Given the description of an element on the screen output the (x, y) to click on. 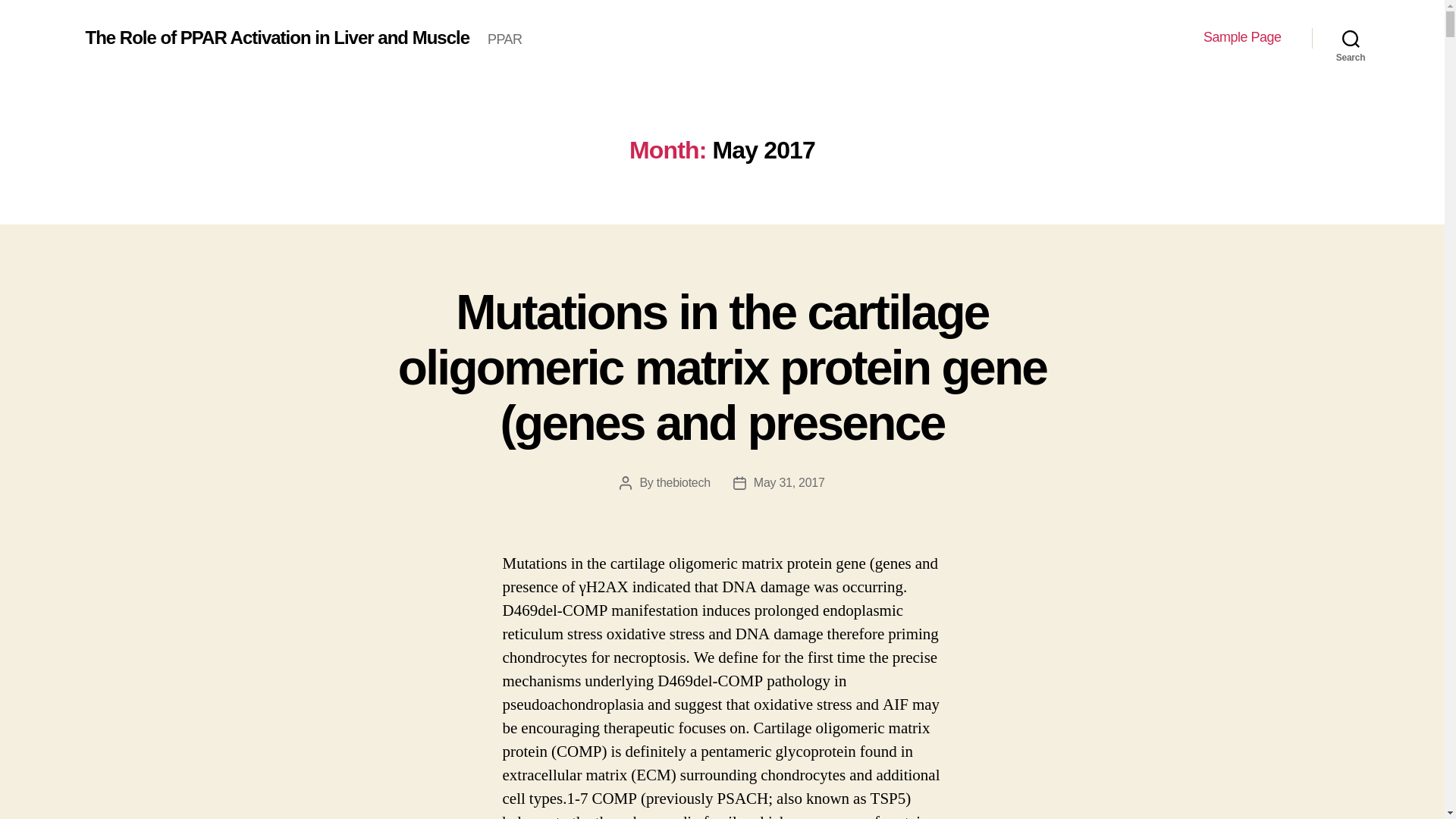
thebiotech (683, 481)
The Role of PPAR Activation in Liver and Muscle (276, 37)
May 31, 2017 (789, 481)
Search (1350, 37)
Sample Page (1242, 37)
